Given the description of an element on the screen output the (x, y) to click on. 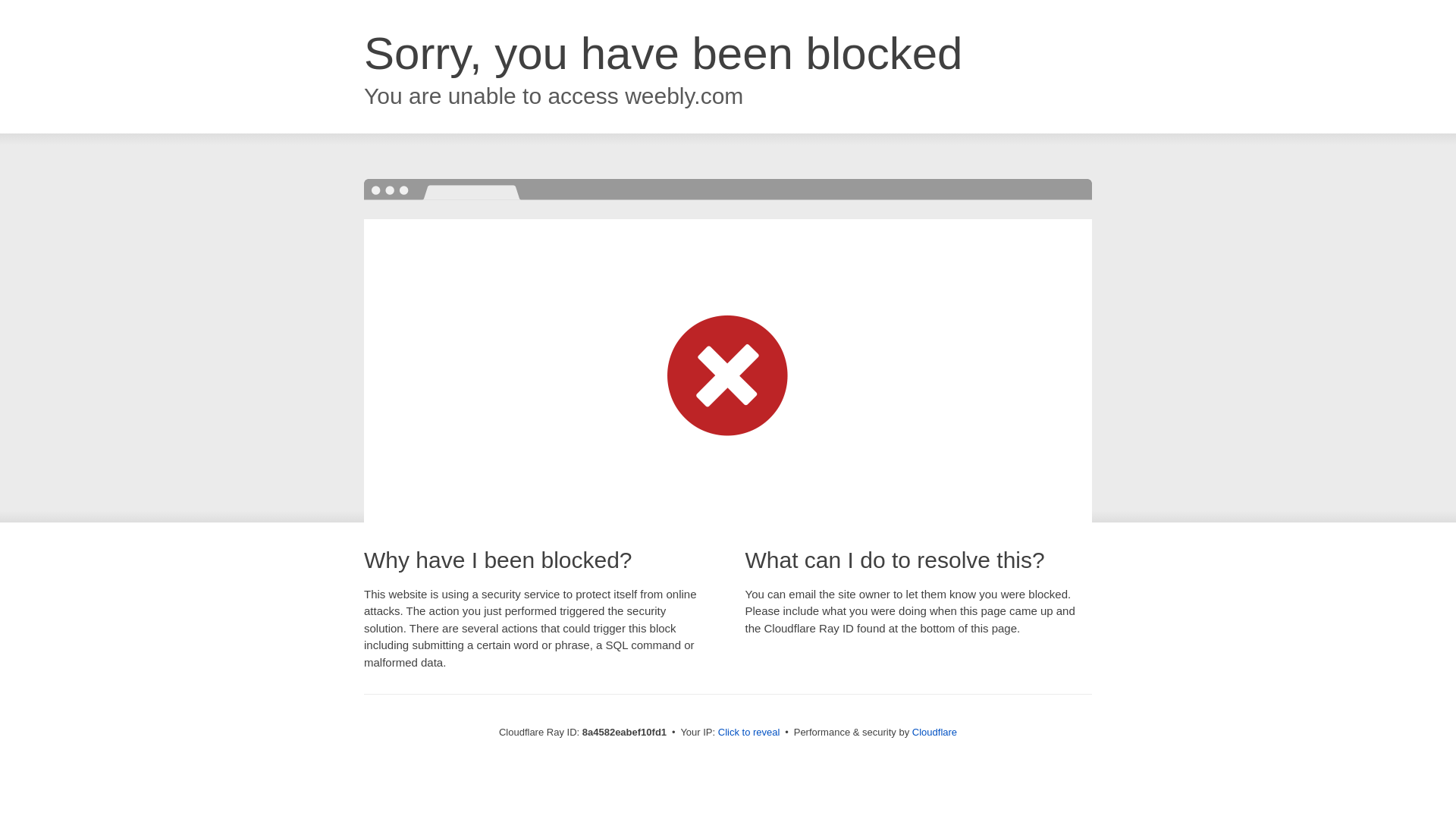
Cloudflare (934, 731)
Click to reveal (748, 732)
